Given the description of an element on the screen output the (x, y) to click on. 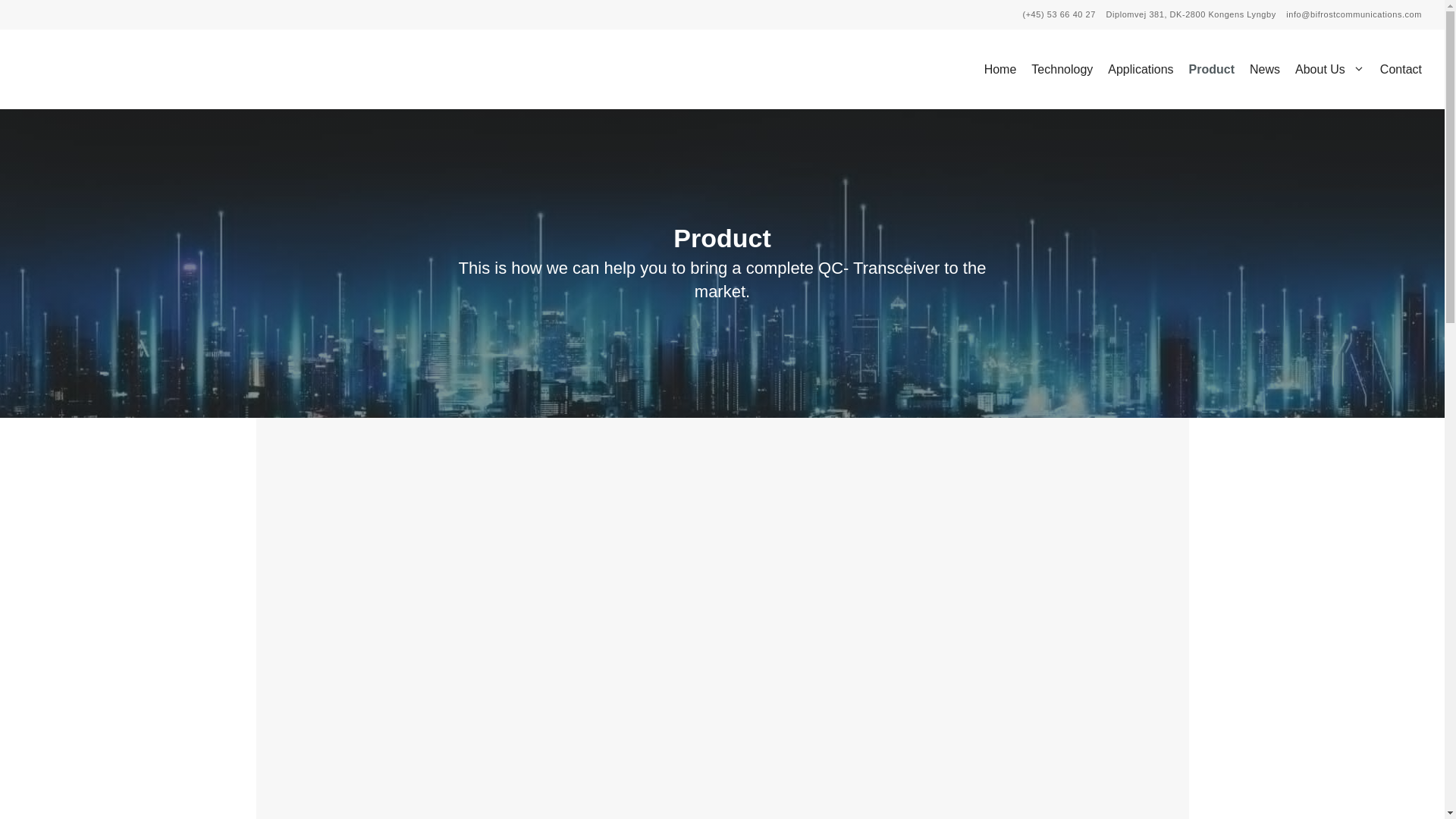
About Us (1330, 69)
Technology (1061, 69)
Diplomvej 381, DK-2800 Kongens Lyngby (1196, 13)
Home (1000, 69)
Product (1210, 69)
Applications (1140, 69)
Contact (1397, 69)
News (1264, 69)
